Given the description of an element on the screen output the (x, y) to click on. 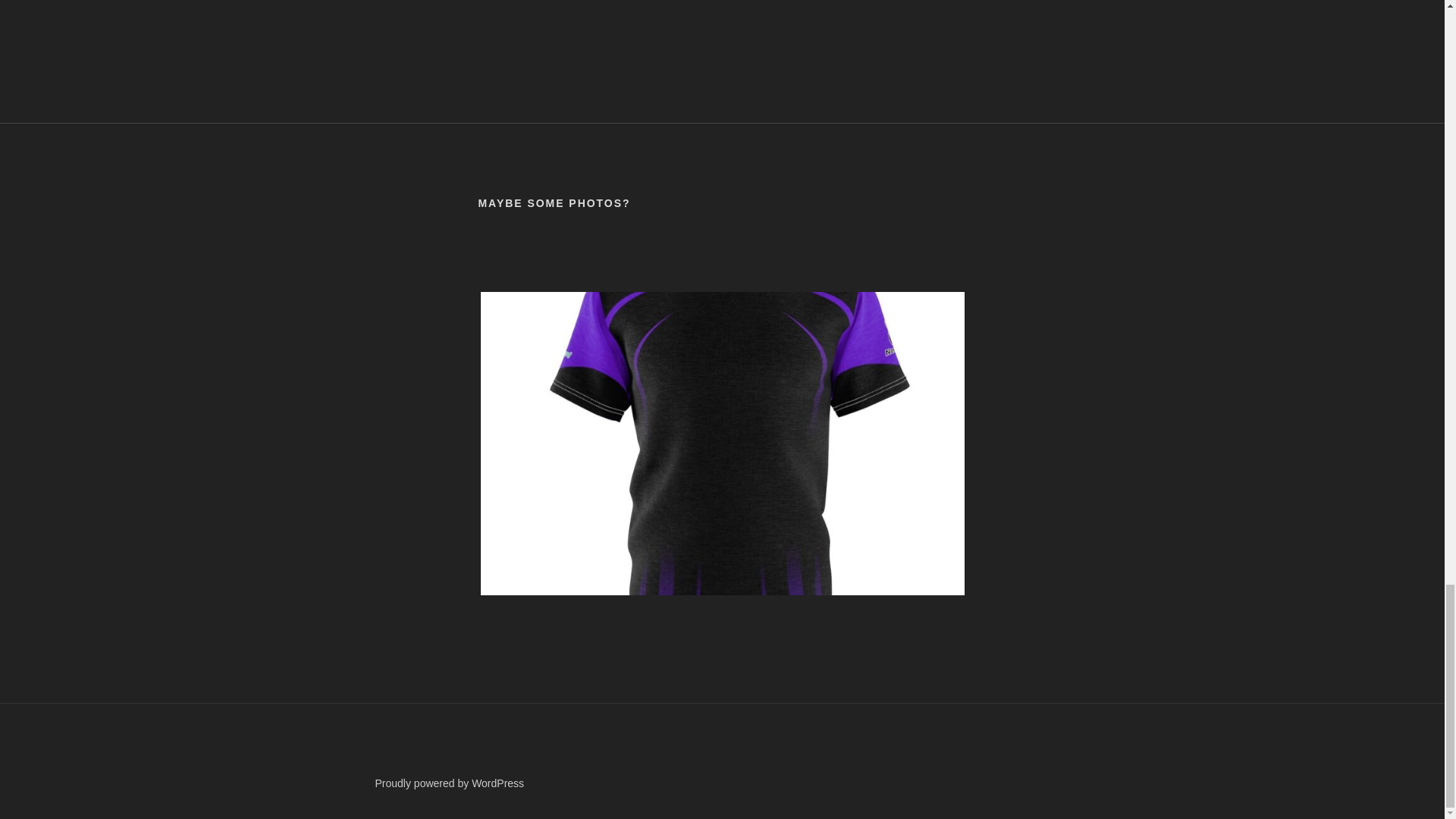
Proudly powered by WordPress (449, 783)
NERD SCHOOL: How to be a Noname Nerd (721, 28)
